Given the description of an element on the screen output the (x, y) to click on. 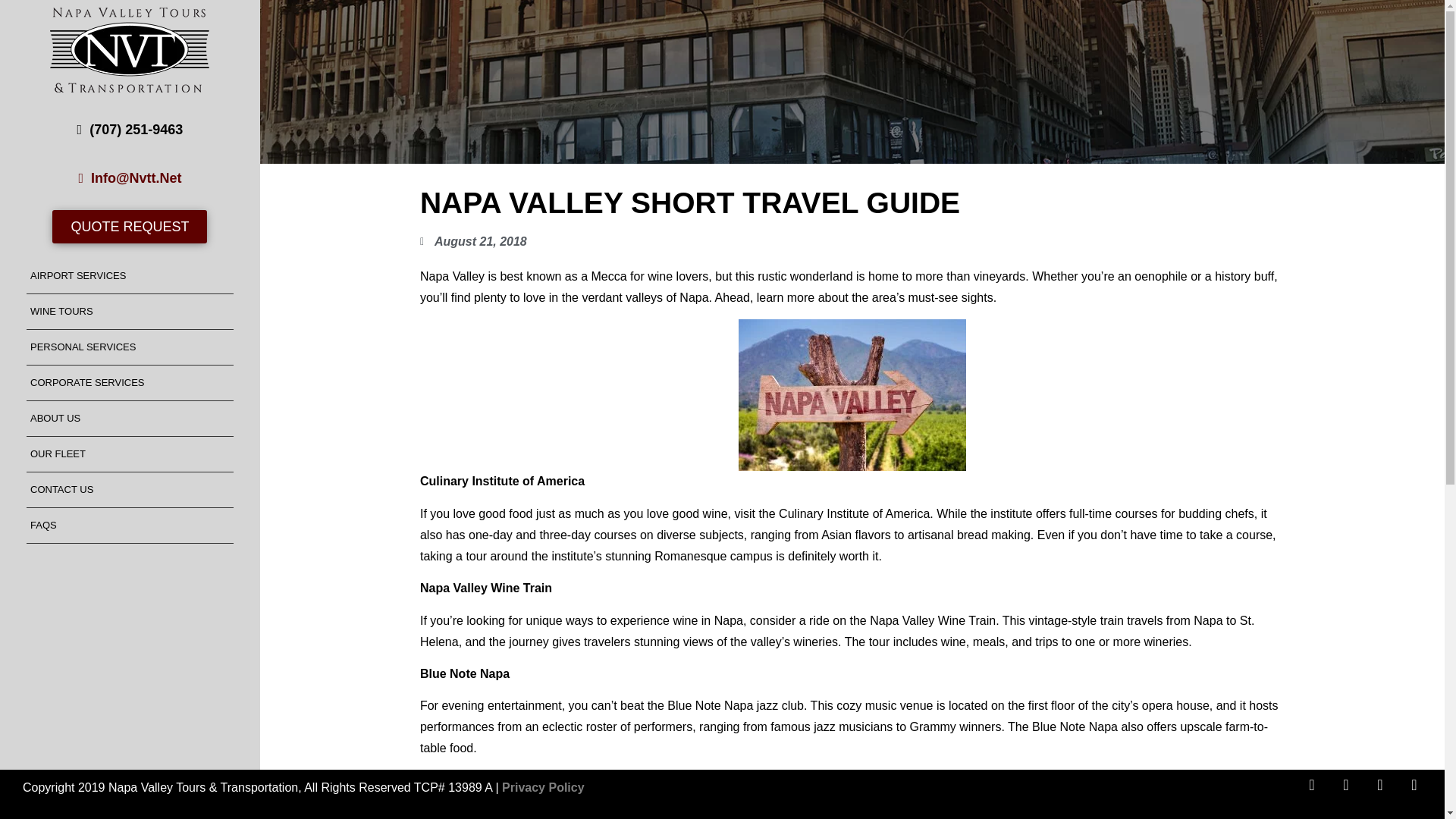
review-widget (168, 710)
